Given the description of an element on the screen output the (x, y) to click on. 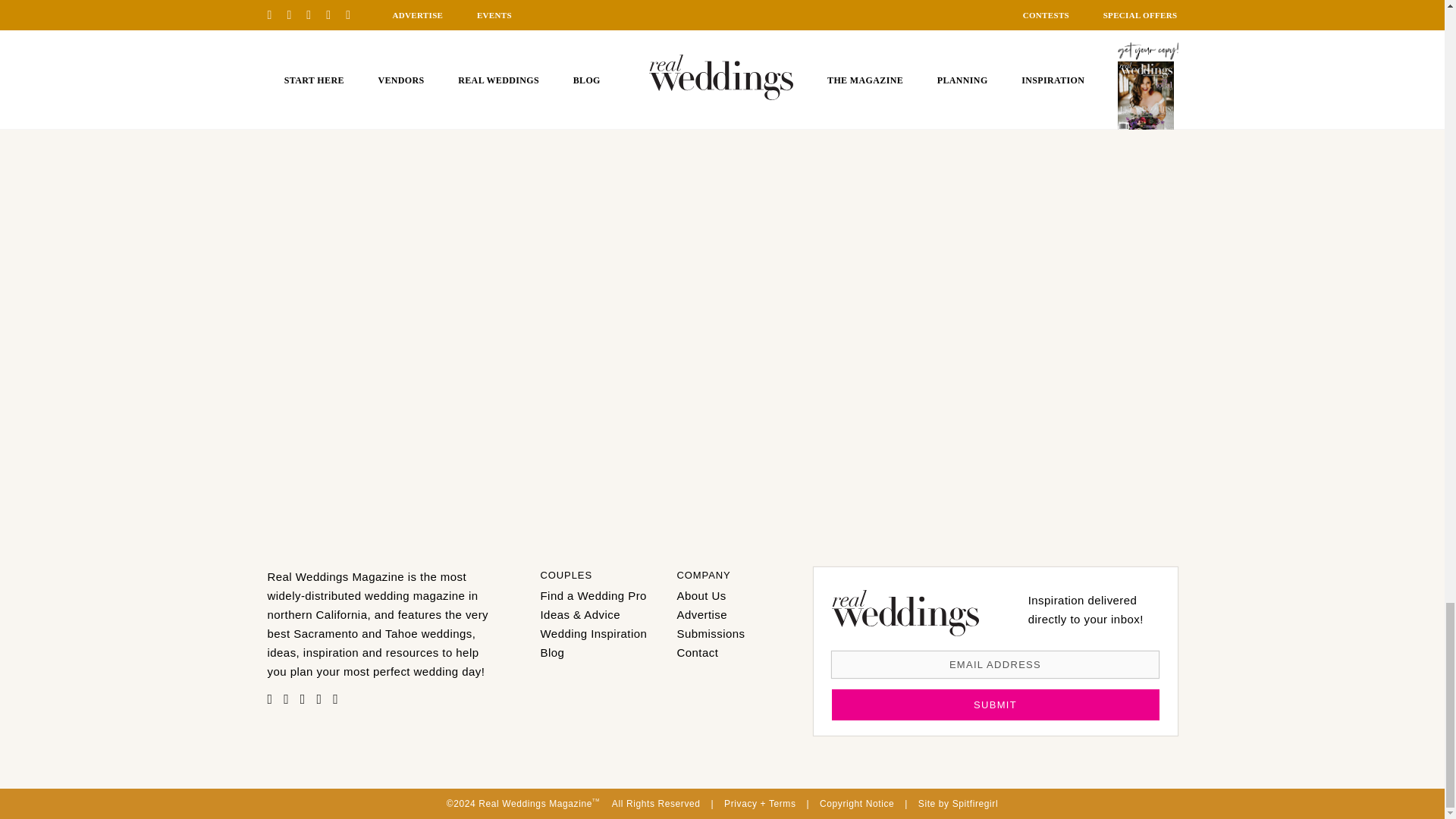
YouTube (339, 698)
Pinterest (272, 698)
Twitter (322, 698)
Facebook (290, 698)
Instagram (306, 698)
